Given the description of an element on the screen output the (x, y) to click on. 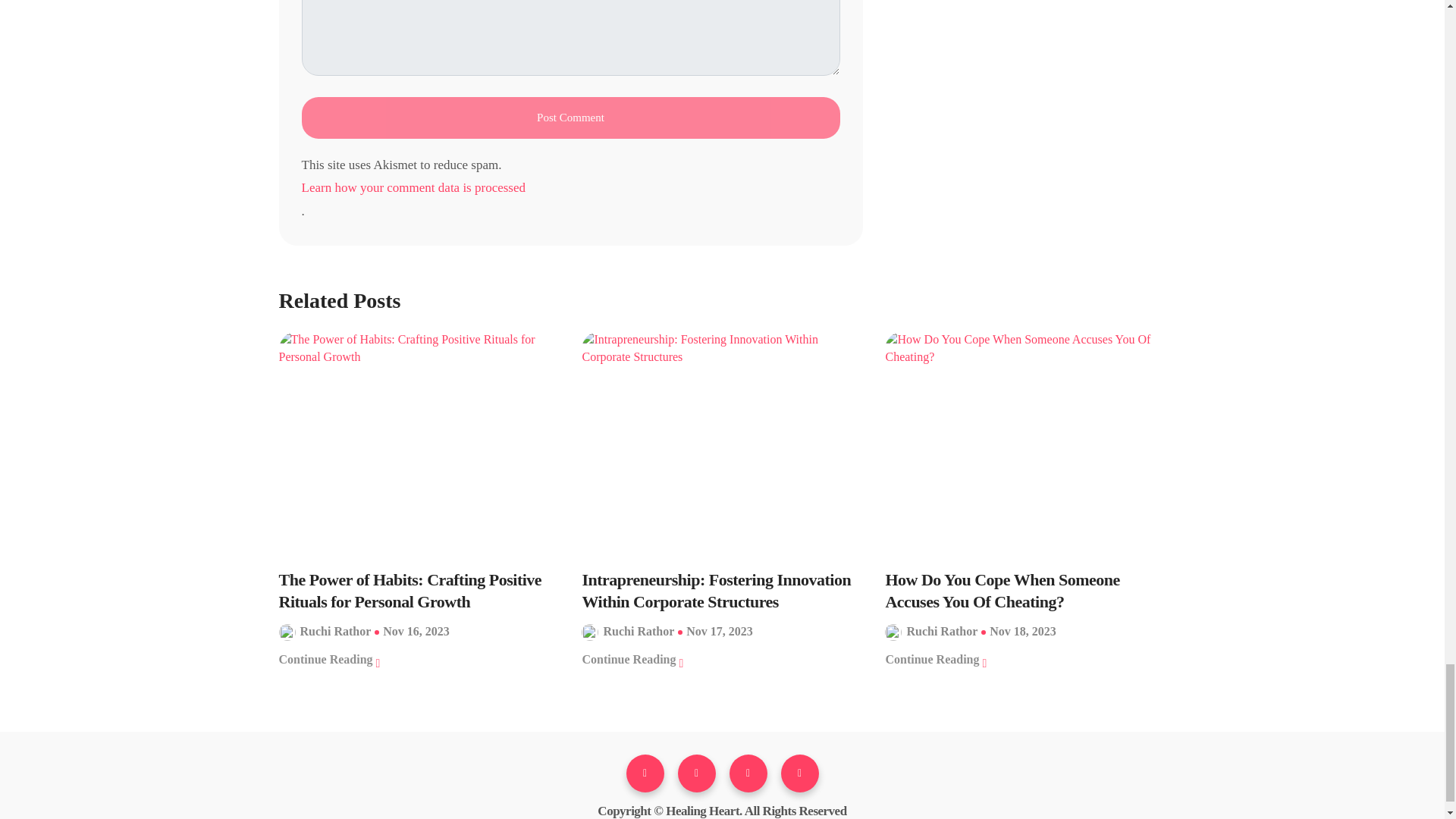
Learn how your comment data is processed (570, 187)
Post Comment (570, 117)
Post Comment (570, 117)
